Given the description of an element on the screen output the (x, y) to click on. 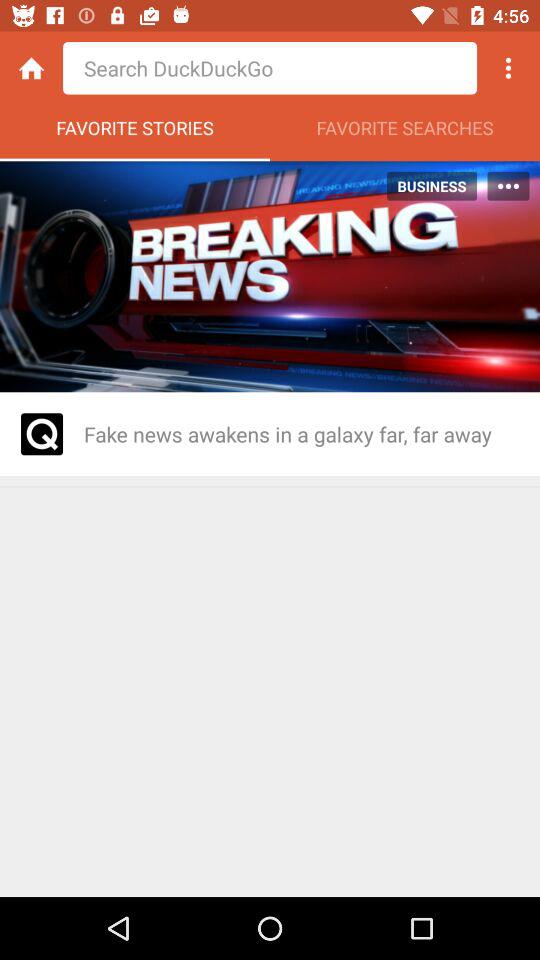
swipe until the favorite stories item (135, 133)
